Given the description of an element on the screen output the (x, y) to click on. 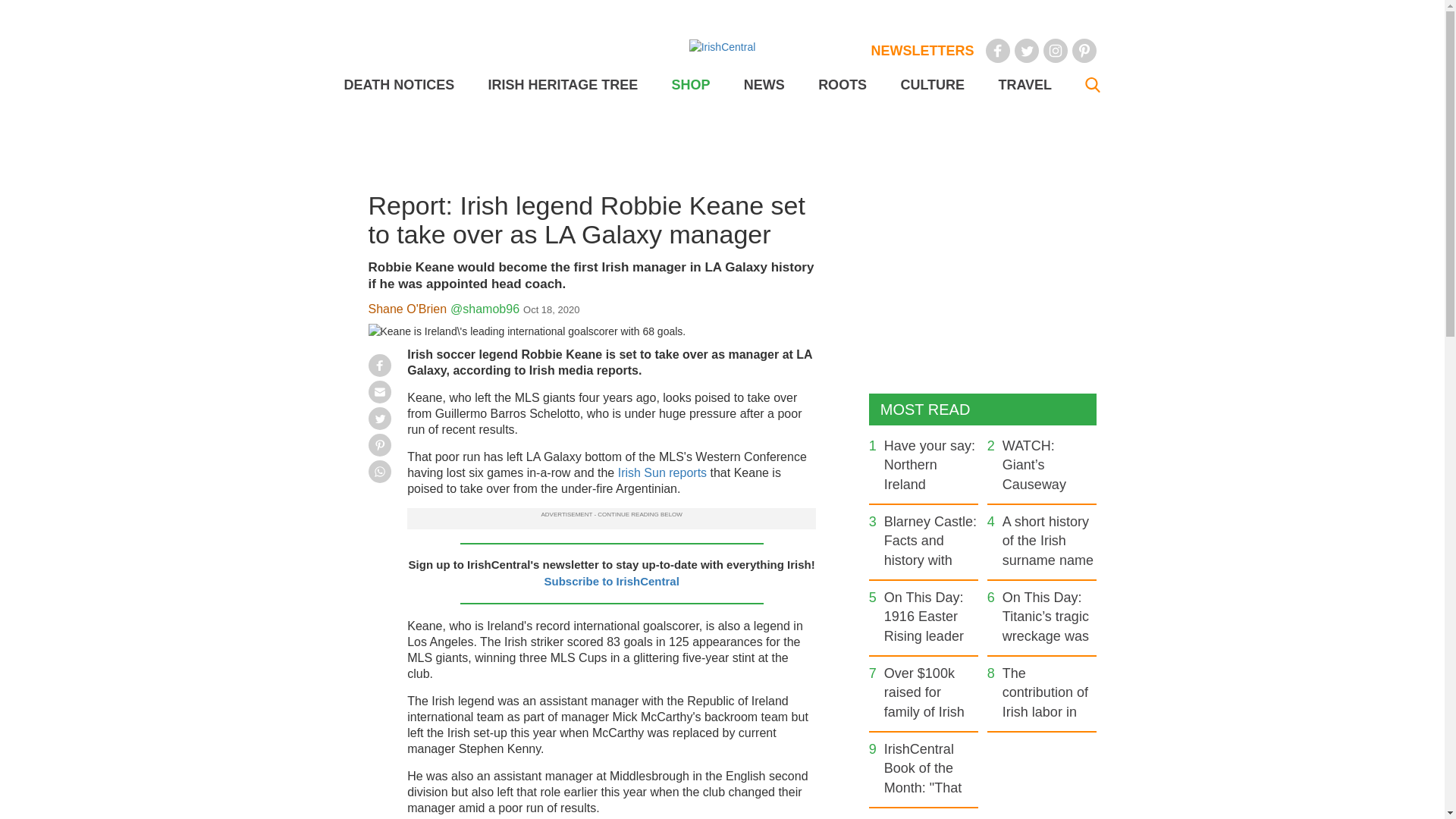
SHOP (690, 84)
TRAVEL (1024, 84)
IRISH HERITAGE TREE (562, 84)
NEWS (764, 84)
NEWSLETTERS (922, 50)
DEATH NOTICES (398, 84)
ROOTS (842, 84)
CULTURE (931, 84)
